Given the description of an element on the screen output the (x, y) to click on. 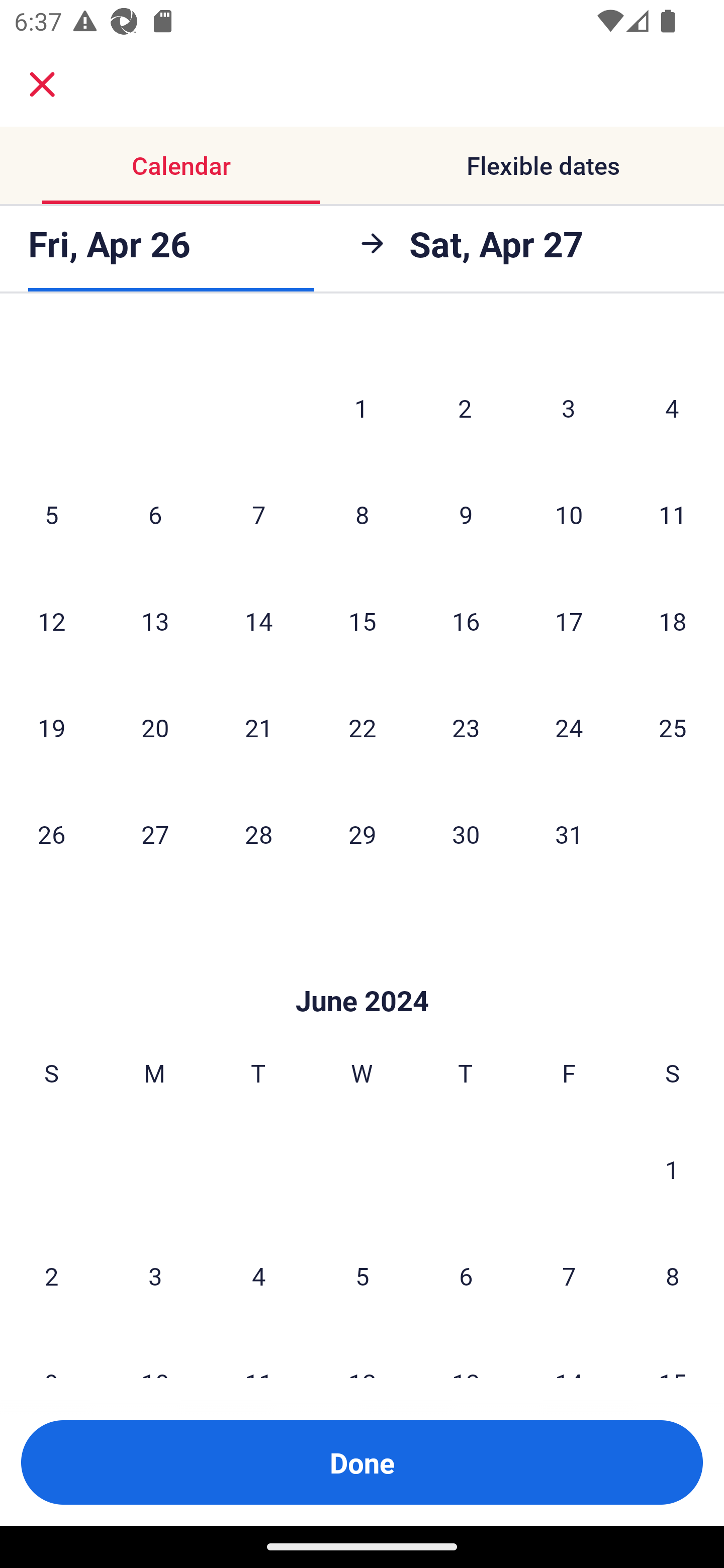
close. (42, 84)
Flexible dates (542, 164)
1 Wednesday, May 1, 2024 (361, 407)
2 Thursday, May 2, 2024 (464, 407)
3 Friday, May 3, 2024 (568, 407)
4 Saturday, May 4, 2024 (672, 407)
5 Sunday, May 5, 2024 (51, 514)
6 Monday, May 6, 2024 (155, 514)
7 Tuesday, May 7, 2024 (258, 514)
8 Wednesday, May 8, 2024 (362, 514)
9 Thursday, May 9, 2024 (465, 514)
10 Friday, May 10, 2024 (569, 514)
11 Saturday, May 11, 2024 (672, 514)
12 Sunday, May 12, 2024 (51, 620)
13 Monday, May 13, 2024 (155, 620)
14 Tuesday, May 14, 2024 (258, 620)
15 Wednesday, May 15, 2024 (362, 620)
16 Thursday, May 16, 2024 (465, 620)
17 Friday, May 17, 2024 (569, 620)
18 Saturday, May 18, 2024 (672, 620)
19 Sunday, May 19, 2024 (51, 727)
20 Monday, May 20, 2024 (155, 727)
21 Tuesday, May 21, 2024 (258, 727)
22 Wednesday, May 22, 2024 (362, 727)
23 Thursday, May 23, 2024 (465, 727)
24 Friday, May 24, 2024 (569, 727)
25 Saturday, May 25, 2024 (672, 727)
26 Sunday, May 26, 2024 (51, 833)
27 Monday, May 27, 2024 (155, 833)
28 Tuesday, May 28, 2024 (258, 833)
29 Wednesday, May 29, 2024 (362, 833)
30 Thursday, May 30, 2024 (465, 833)
31 Friday, May 31, 2024 (569, 833)
Skip to Done (362, 970)
1 Saturday, June 1, 2024 (672, 1169)
2 Sunday, June 2, 2024 (51, 1275)
3 Monday, June 3, 2024 (155, 1275)
4 Tuesday, June 4, 2024 (258, 1275)
5 Wednesday, June 5, 2024 (362, 1275)
6 Thursday, June 6, 2024 (465, 1275)
7 Friday, June 7, 2024 (569, 1275)
8 Saturday, June 8, 2024 (672, 1275)
Done (361, 1462)
